Given the description of an element on the screen output the (x, y) to click on. 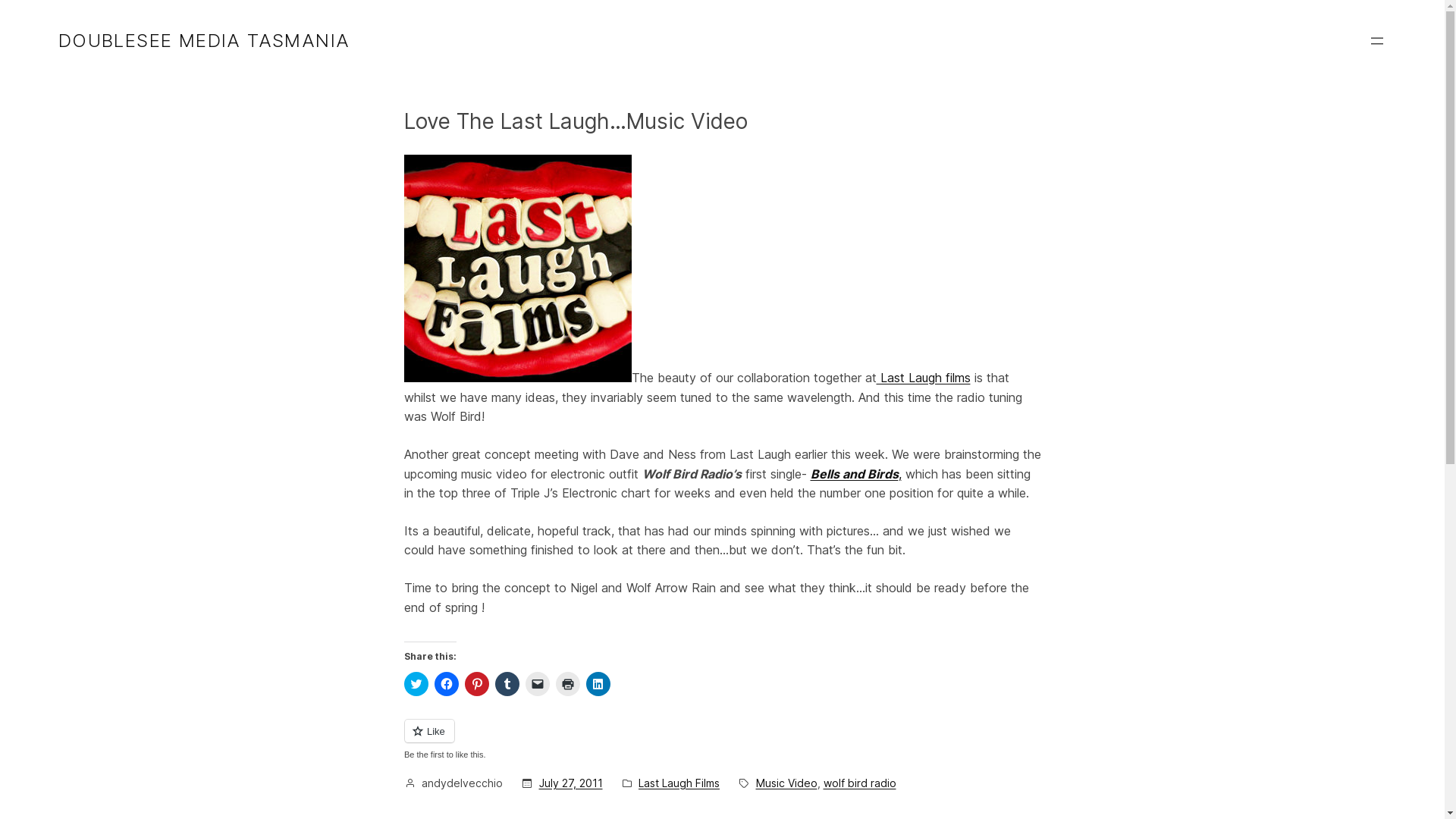
Like or Reblog Element type: hover (721, 739)
Click to share on Facebook (Opens in new window) Element type: text (445, 683)
Last Laugh Films Element type: text (678, 783)
wolf bird radio Element type: text (859, 783)
Click to share on Tumblr (Opens in new window) Element type: text (506, 683)
Click to share on Twitter (Opens in new window) Element type: text (415, 683)
July 27, 2011 Element type: text (570, 782)
Click to share on LinkedIn (Opens in new window) Element type: text (597, 683)
Last Laugh Element type: hover (516, 377)
Click to share on Pinterest (Opens in new window) Element type: text (476, 683)
Bells and Birds, Element type: text (854, 473)
Music Video Element type: text (785, 783)
Click to print (Opens in new window) Element type: text (567, 683)
Last Laugh films Element type: text (923, 377)
DOUBLESEE MEDIA TASMANIA Element type: text (204, 40)
2128428_300 Element type: hover (516, 268)
Click to email a link to a friend (Opens in new window) Element type: text (536, 683)
